Given the description of an element on the screen output the (x, y) to click on. 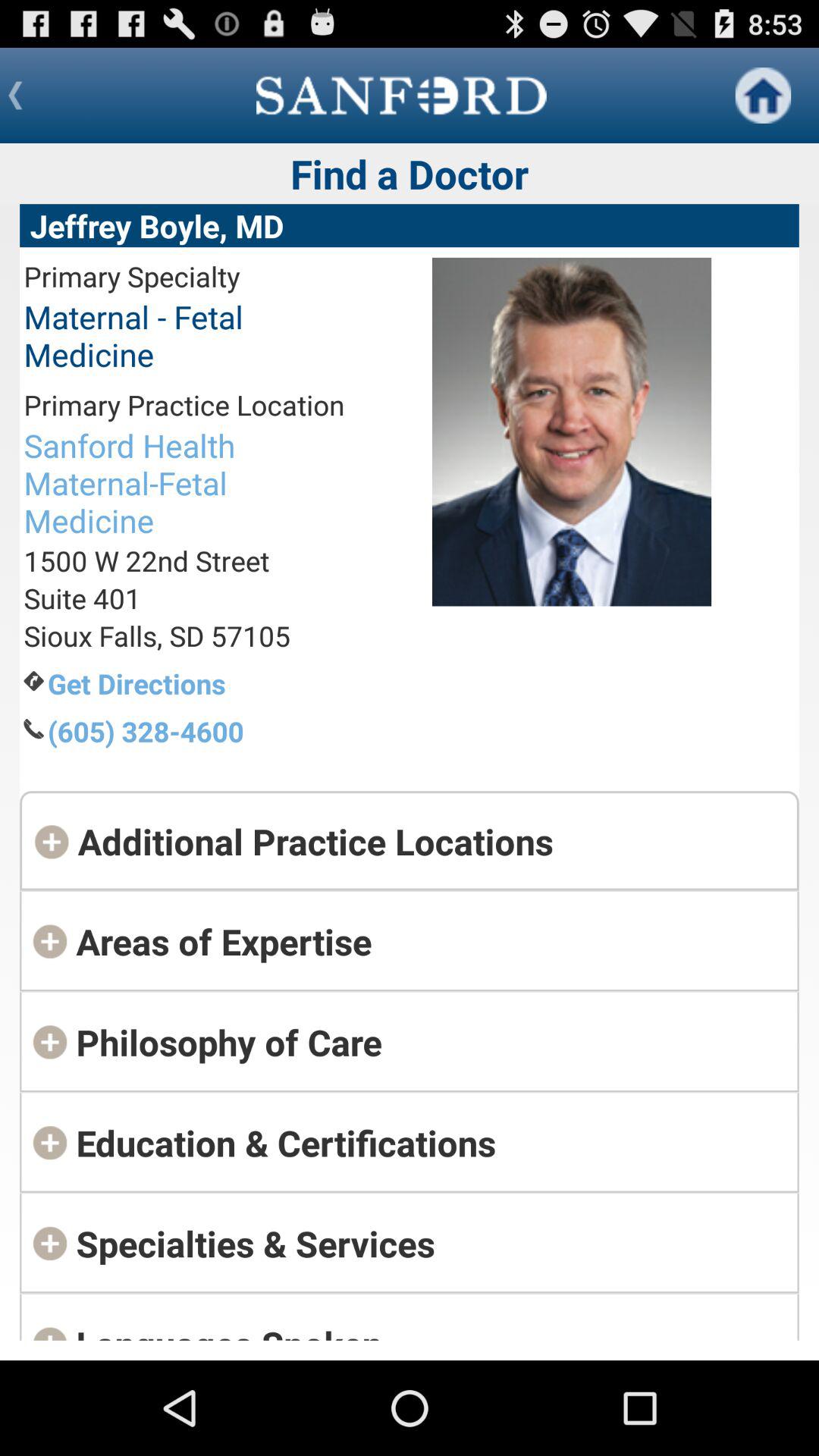
swipe until the sanford health maternal item (183, 482)
